Given the description of an element on the screen output the (x, y) to click on. 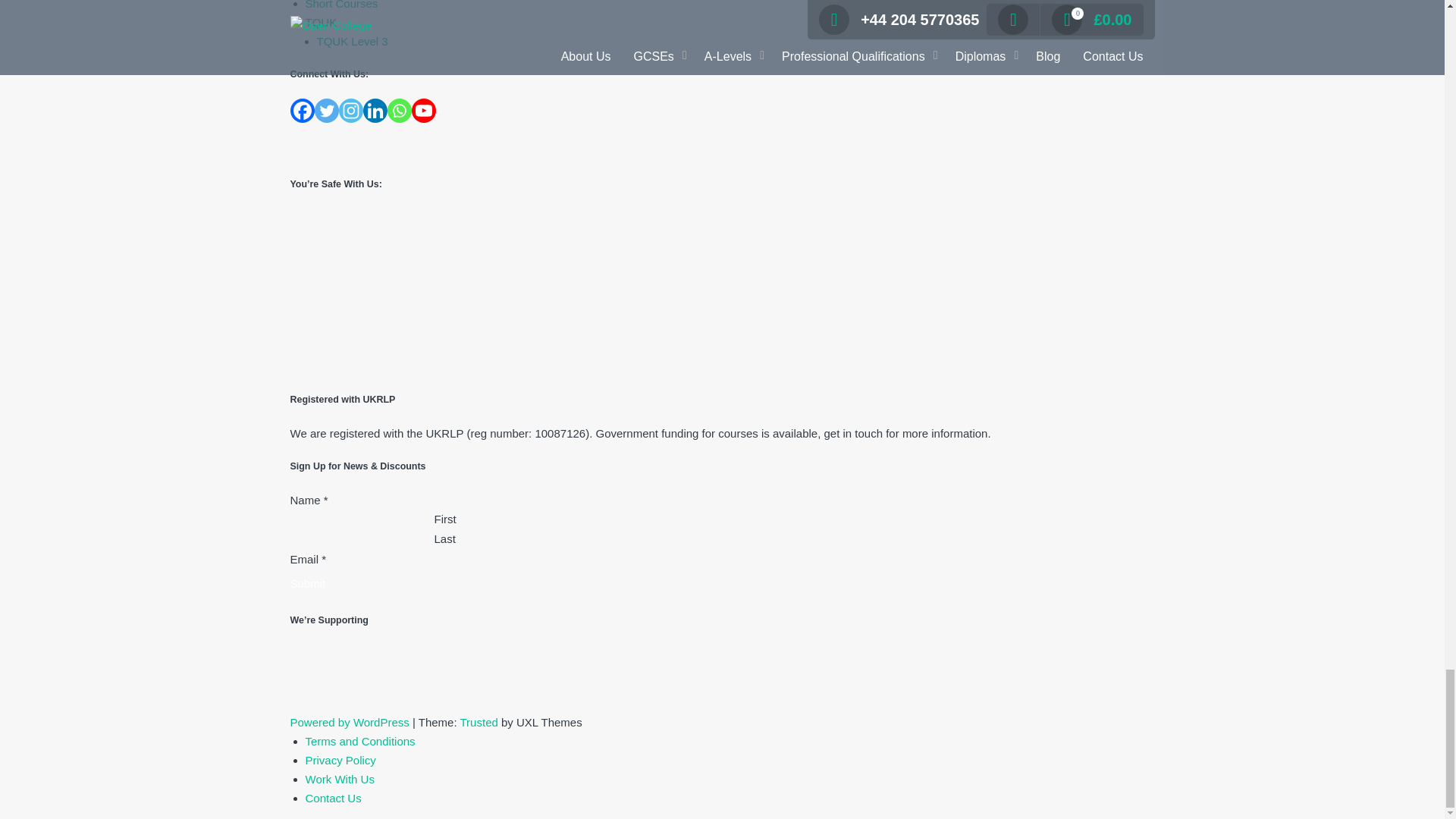
Whatsapp (398, 110)
Facebook (301, 110)
Linkedin Company (374, 110)
Instagram (349, 110)
Twitter (325, 110)
Youtube (422, 110)
